Given the description of an element on the screen output the (x, y) to click on. 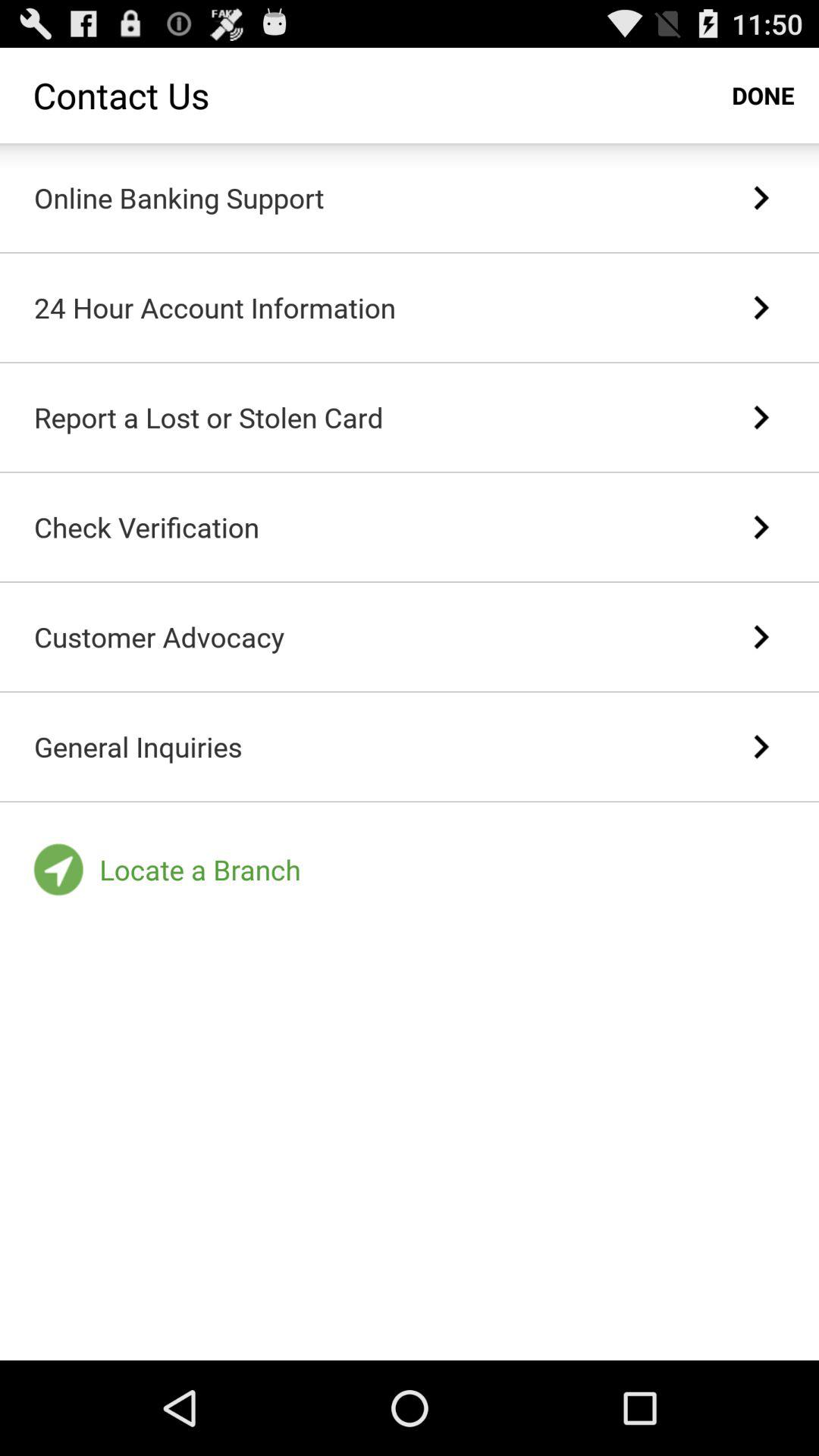
turn on the icon to the right of customer advocacy (760, 636)
